Given the description of an element on the screen output the (x, y) to click on. 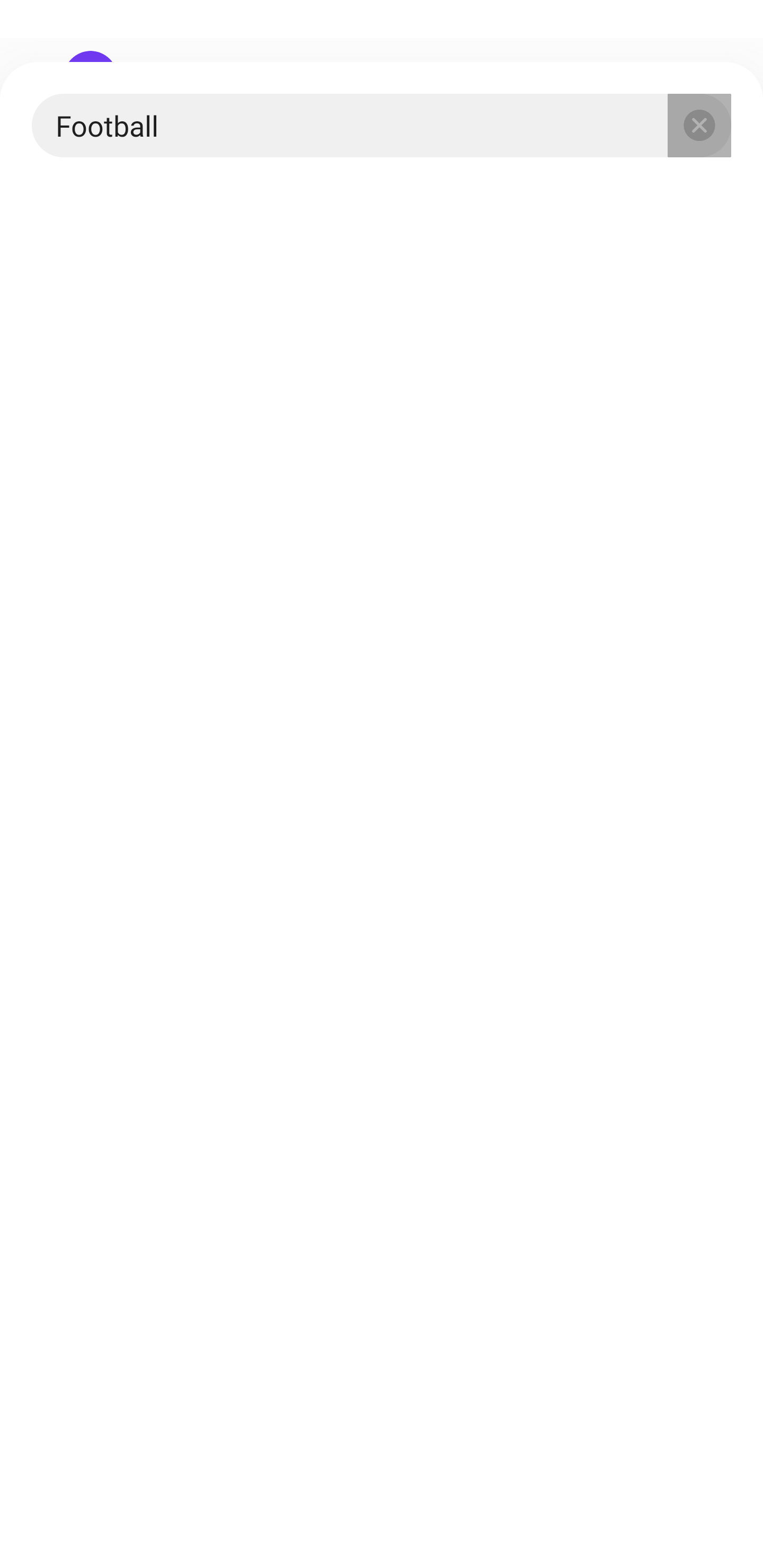
Football (381, 125)
